Given the description of an element on the screen output the (x, y) to click on. 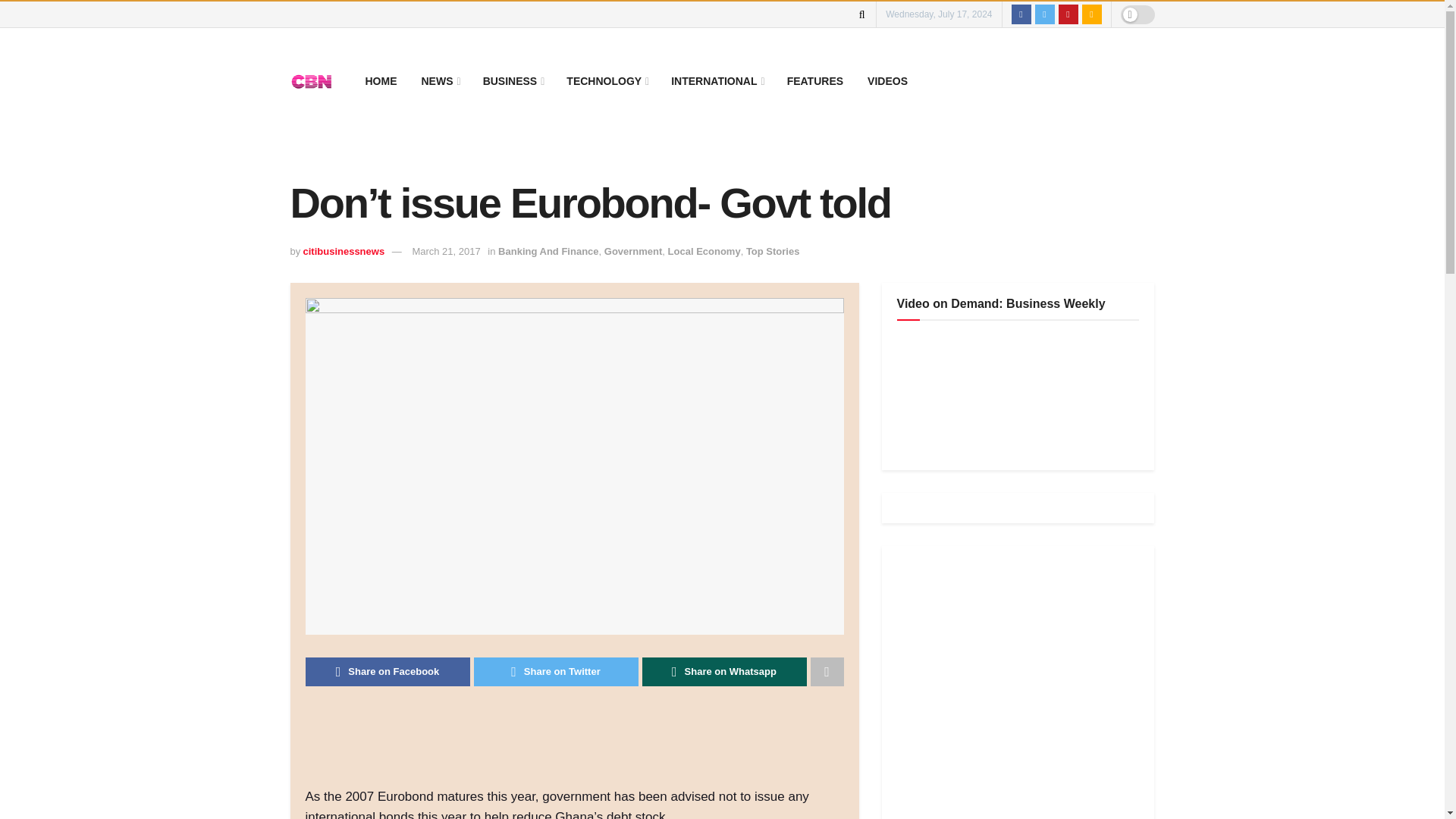
Advertisement (1010, 690)
Business Weekly (1010, 392)
NEWS (439, 80)
Advertisement (580, 746)
HOME (381, 80)
